Given the description of an element on the screen output the (x, y) to click on. 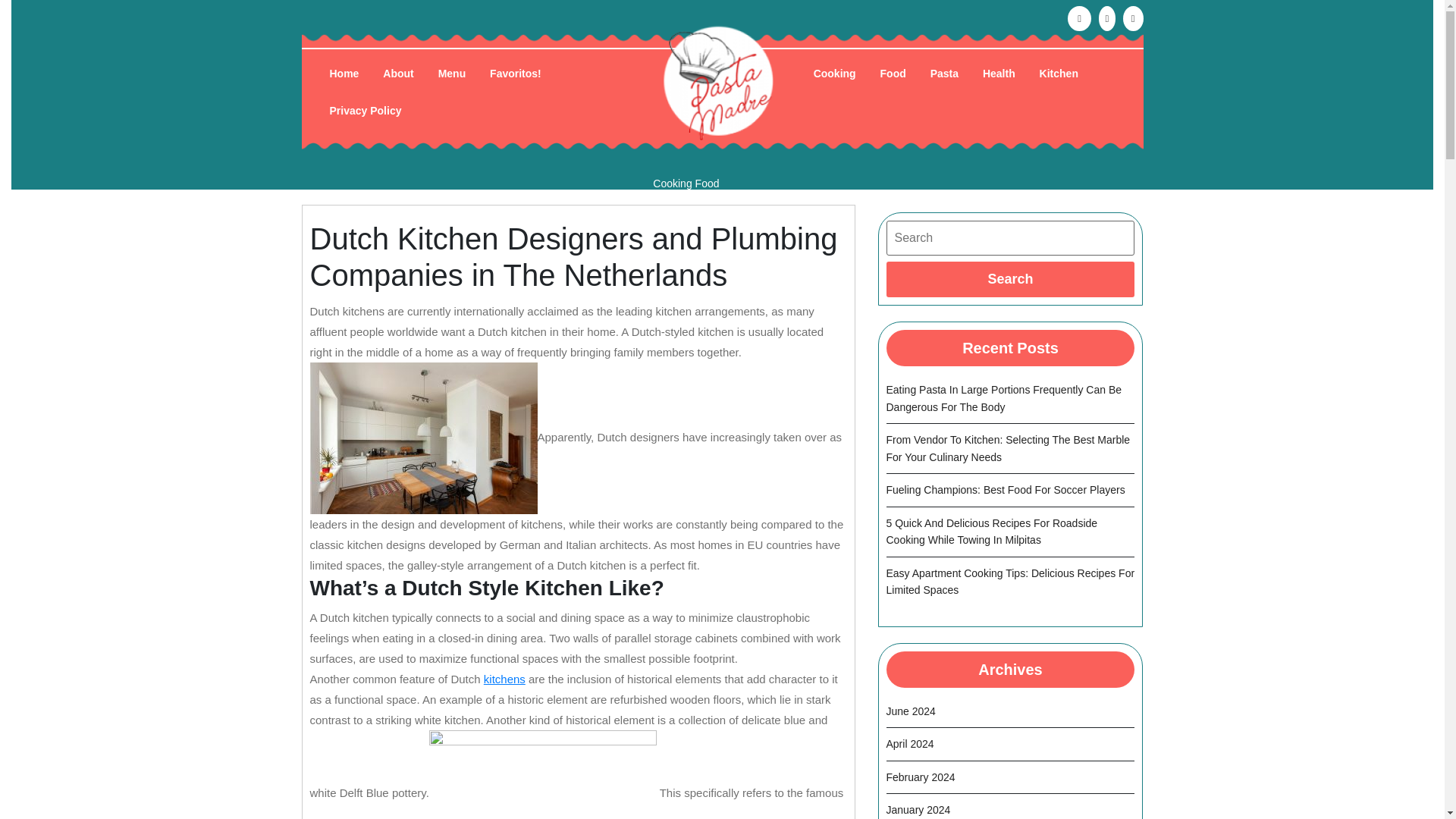
Search (1009, 279)
Kitchen (1059, 73)
Menu (452, 73)
Youtube (1105, 17)
Home (343, 73)
Facebook (1077, 17)
Fueling Champions: Best Food For Soccer Players (1004, 490)
Cooking (834, 73)
